Given the description of an element on the screen output the (x, y) to click on. 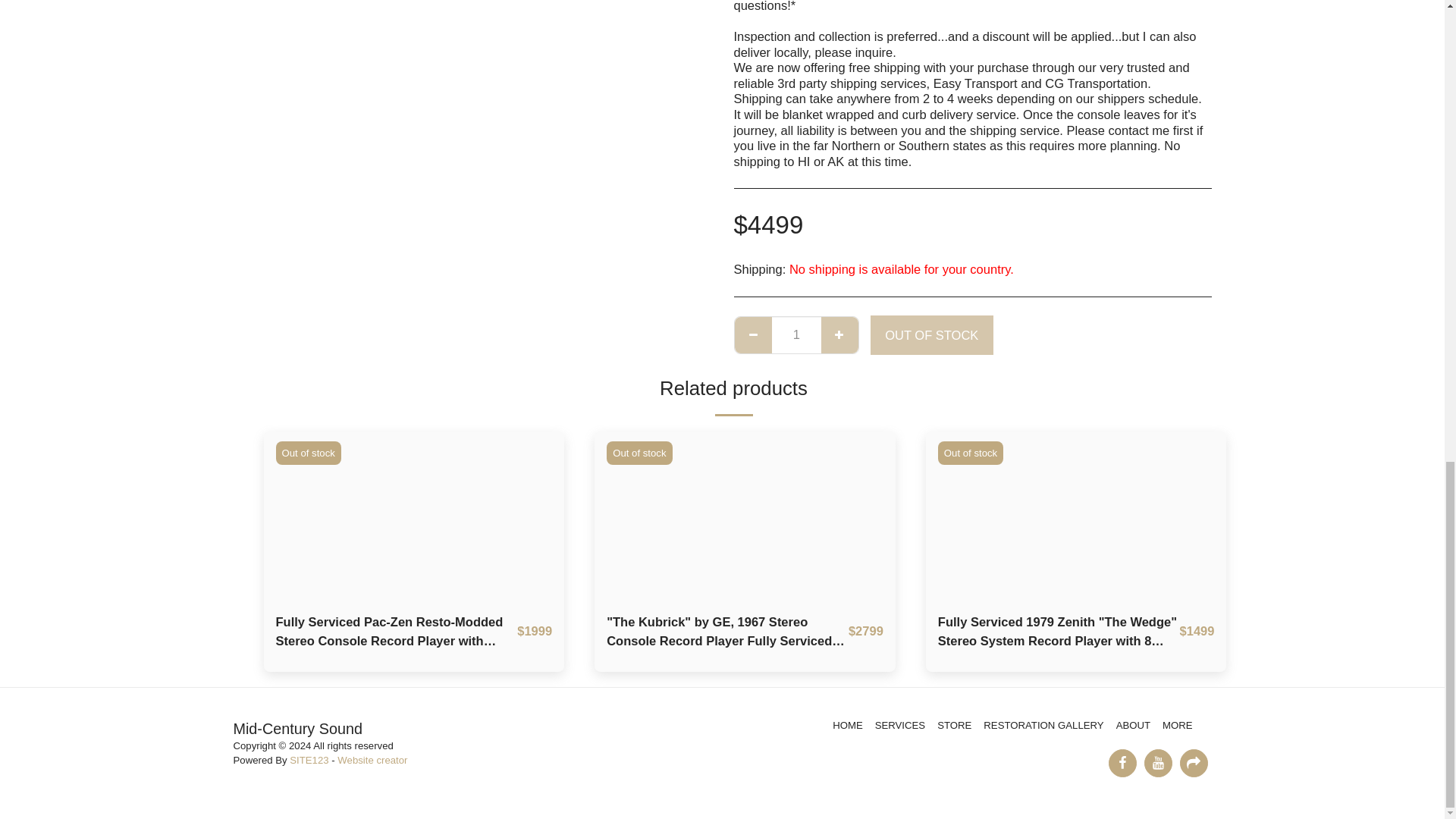
OUT OF STOCK (931, 334)
1 (796, 334)
This product is out of stock. (796, 334)
